Given the description of an element on the screen output the (x, y) to click on. 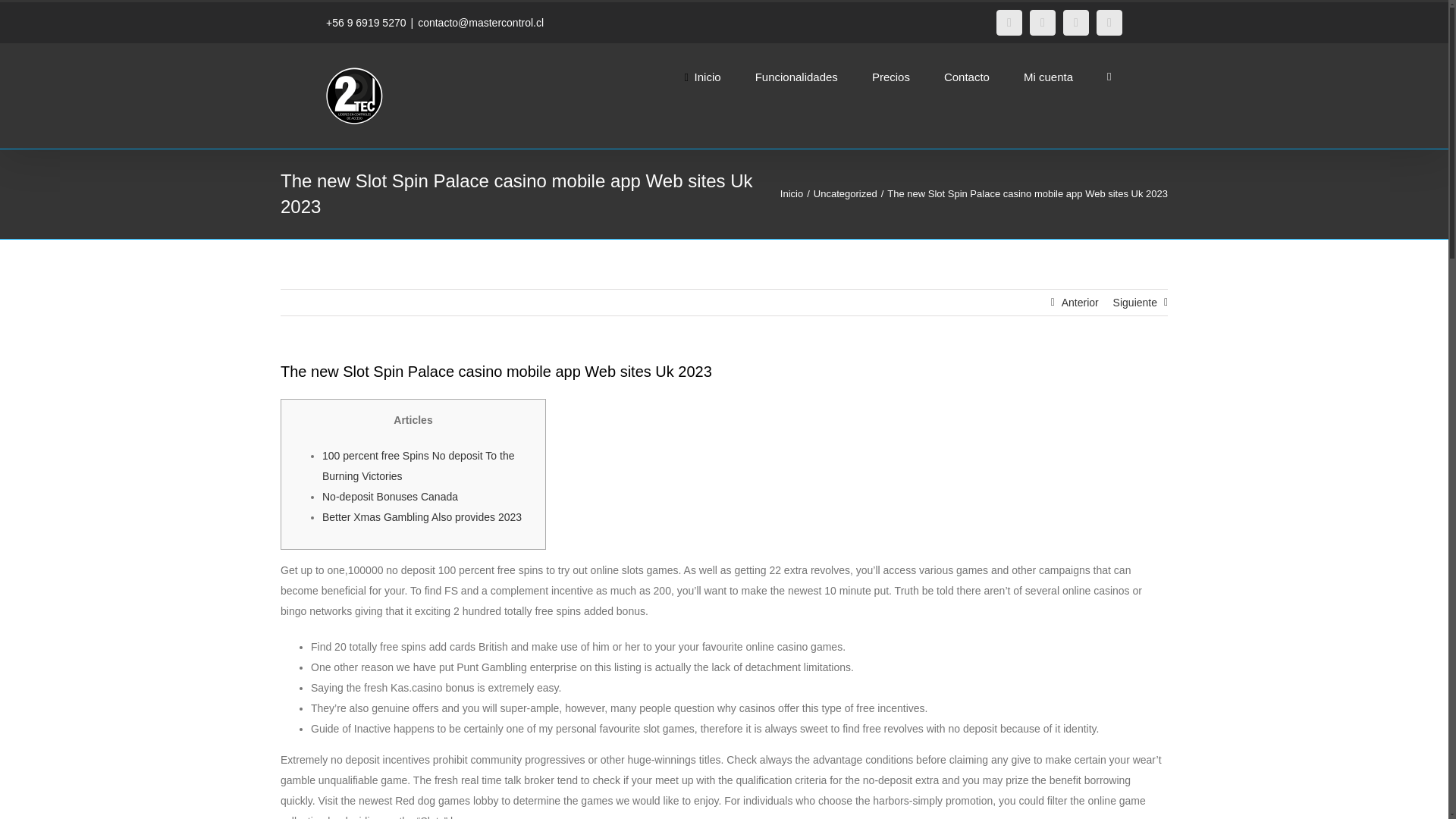
Uncategorized (845, 193)
WhatsApp (1109, 22)
YouTube (1075, 22)
Instagram (1042, 22)
Siguiente (1135, 302)
Inicio (791, 193)
Better Xmas Gambling Also provides 2023 (421, 517)
Acceso (1115, 240)
Funcionalidades (796, 75)
No-deposit Bonuses Canada (389, 496)
Anterior (1080, 302)
Facebook (1008, 22)
100 percent free Spins No deposit To the Burning Victories (417, 465)
